Given the description of an element on the screen output the (x, y) to click on. 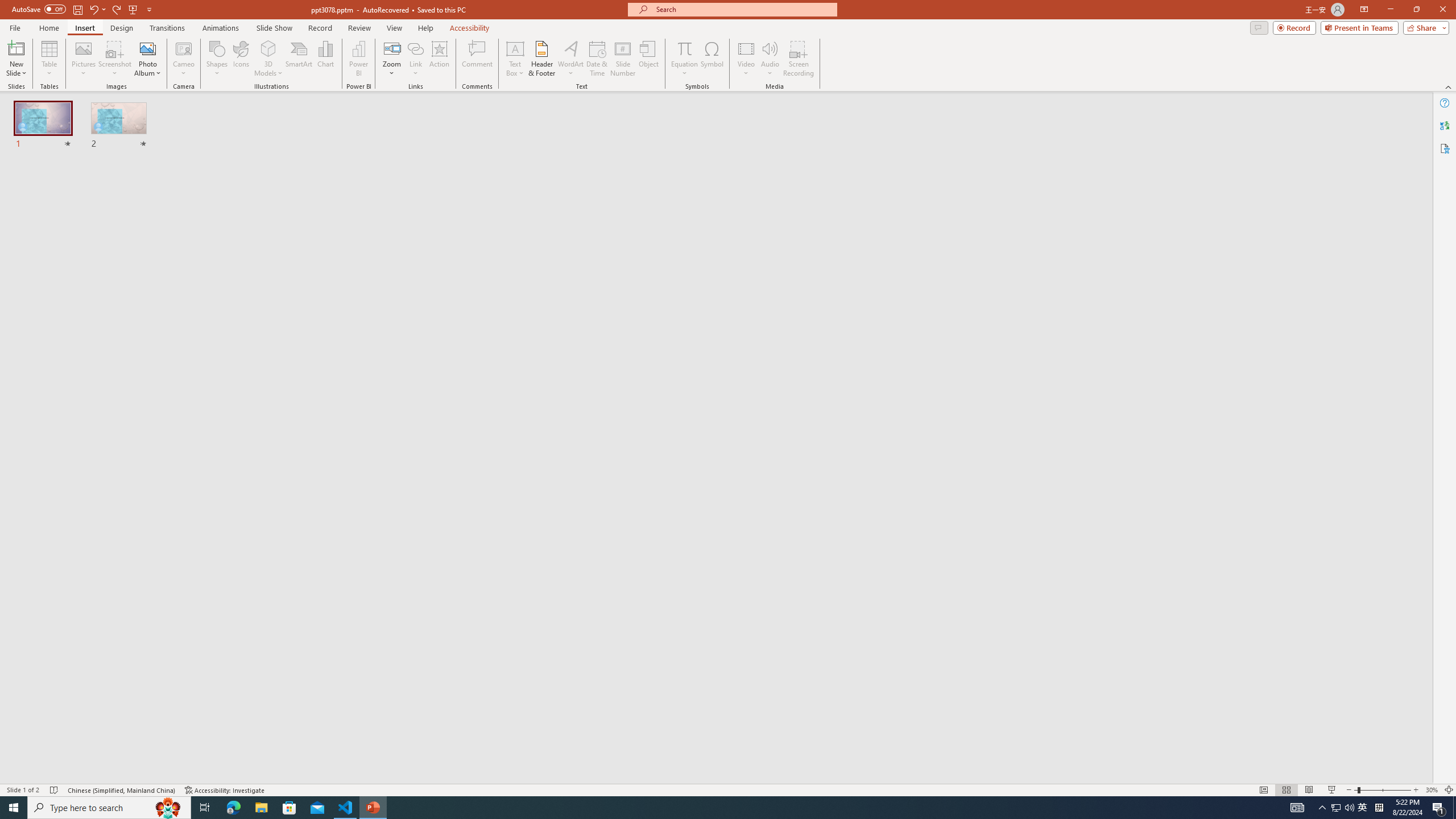
Icons (240, 58)
Accessibility (1444, 147)
Comment (476, 58)
Screenshot (114, 58)
Action (439, 58)
Photo Album... (147, 58)
Link (415, 48)
New Slide (16, 48)
Video (745, 58)
Restore Down (1416, 9)
